Given the description of an element on the screen output the (x, y) to click on. 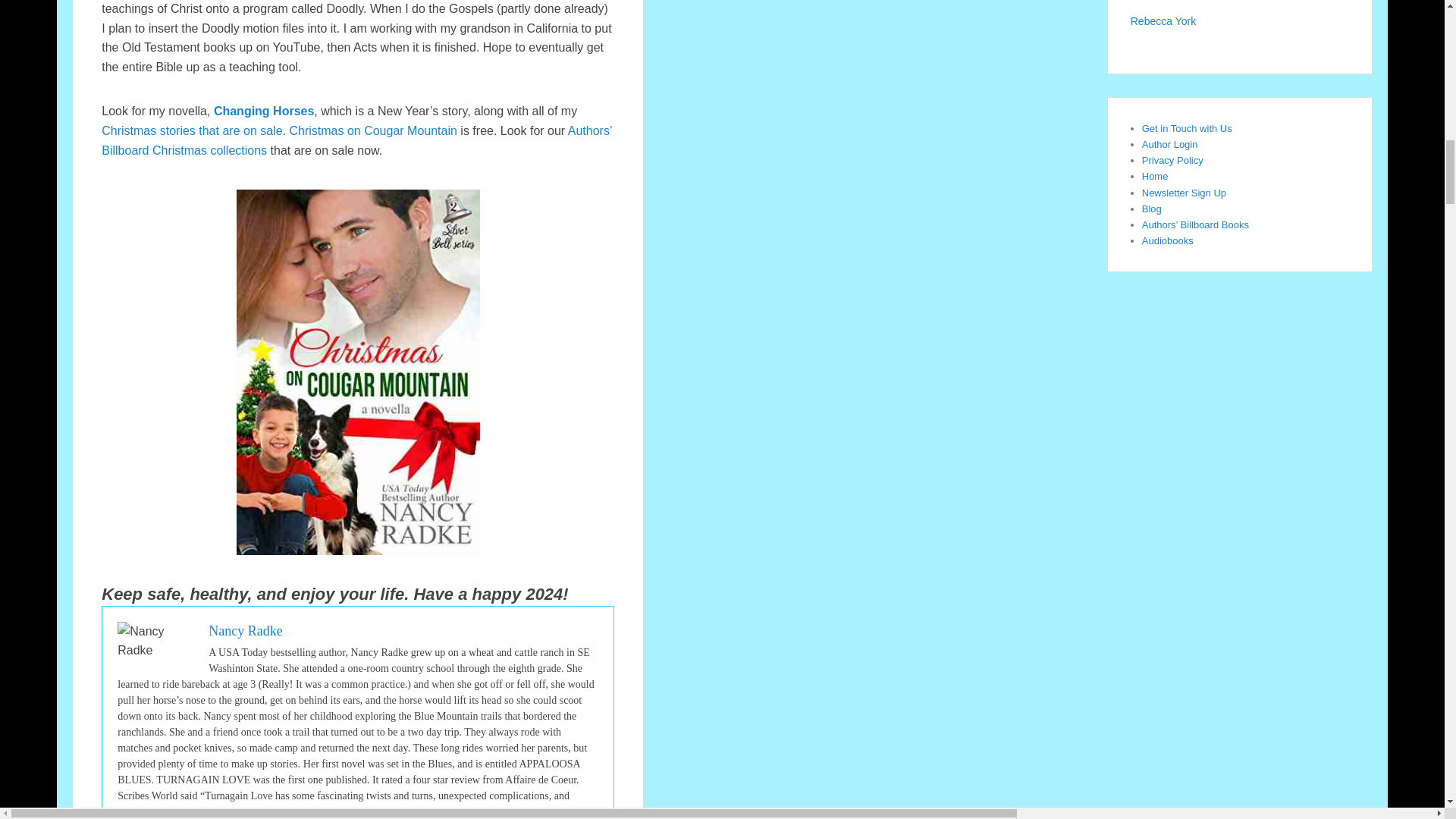
Christmas on Cougar Mountain (372, 130)
Nancy Radke (245, 630)
Christmas stories that are on sale (191, 130)
Changing Horses (264, 110)
